Given the description of an element on the screen output the (x, y) to click on. 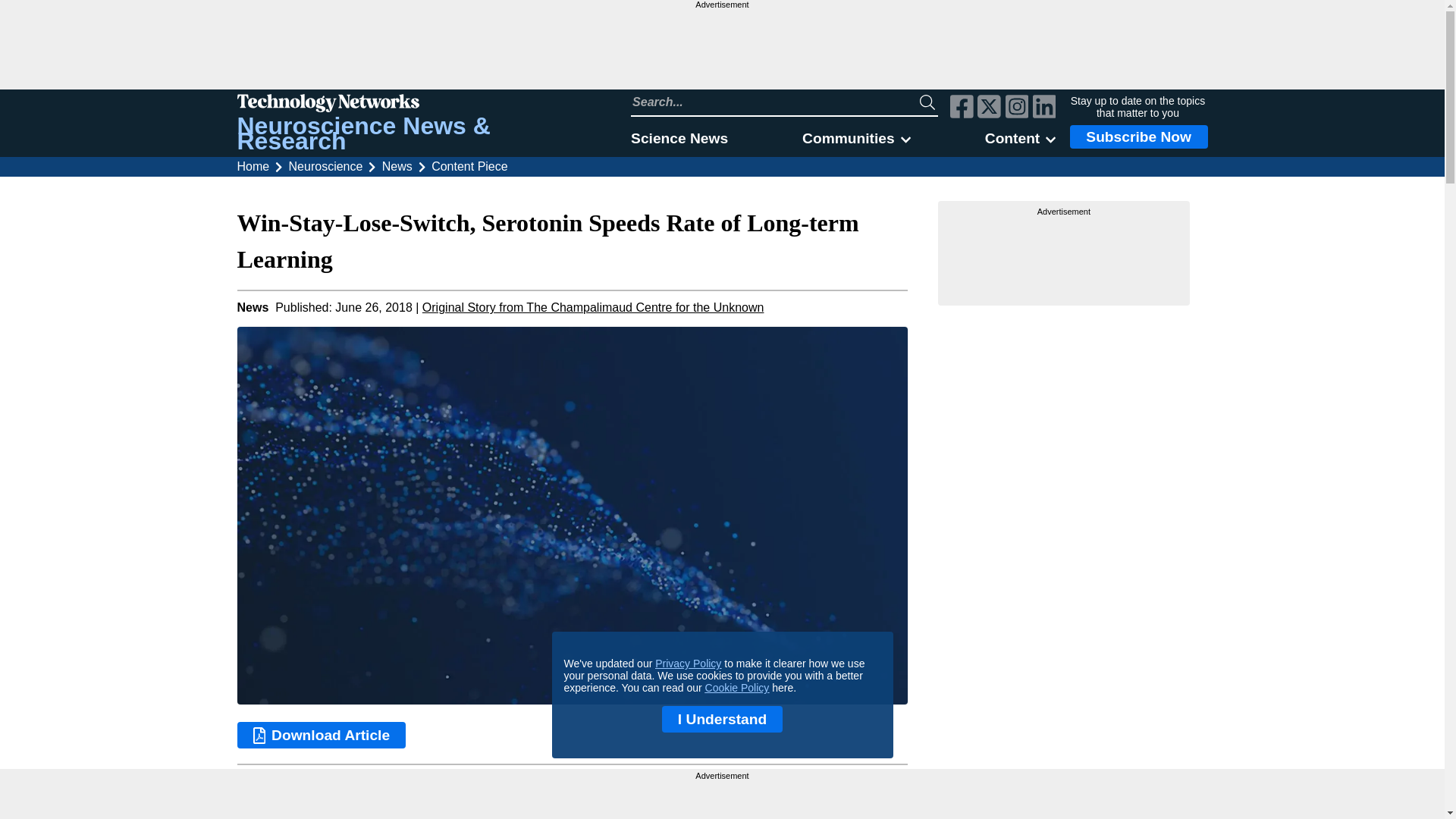
I Understand (722, 718)
Search Technology Networks website input field (775, 102)
Click here to visit the original source for this content. (593, 307)
Technology Networks logo (415, 104)
Privacy Policy (687, 663)
Cookie Policy (737, 687)
